Given the description of an element on the screen output the (x, y) to click on. 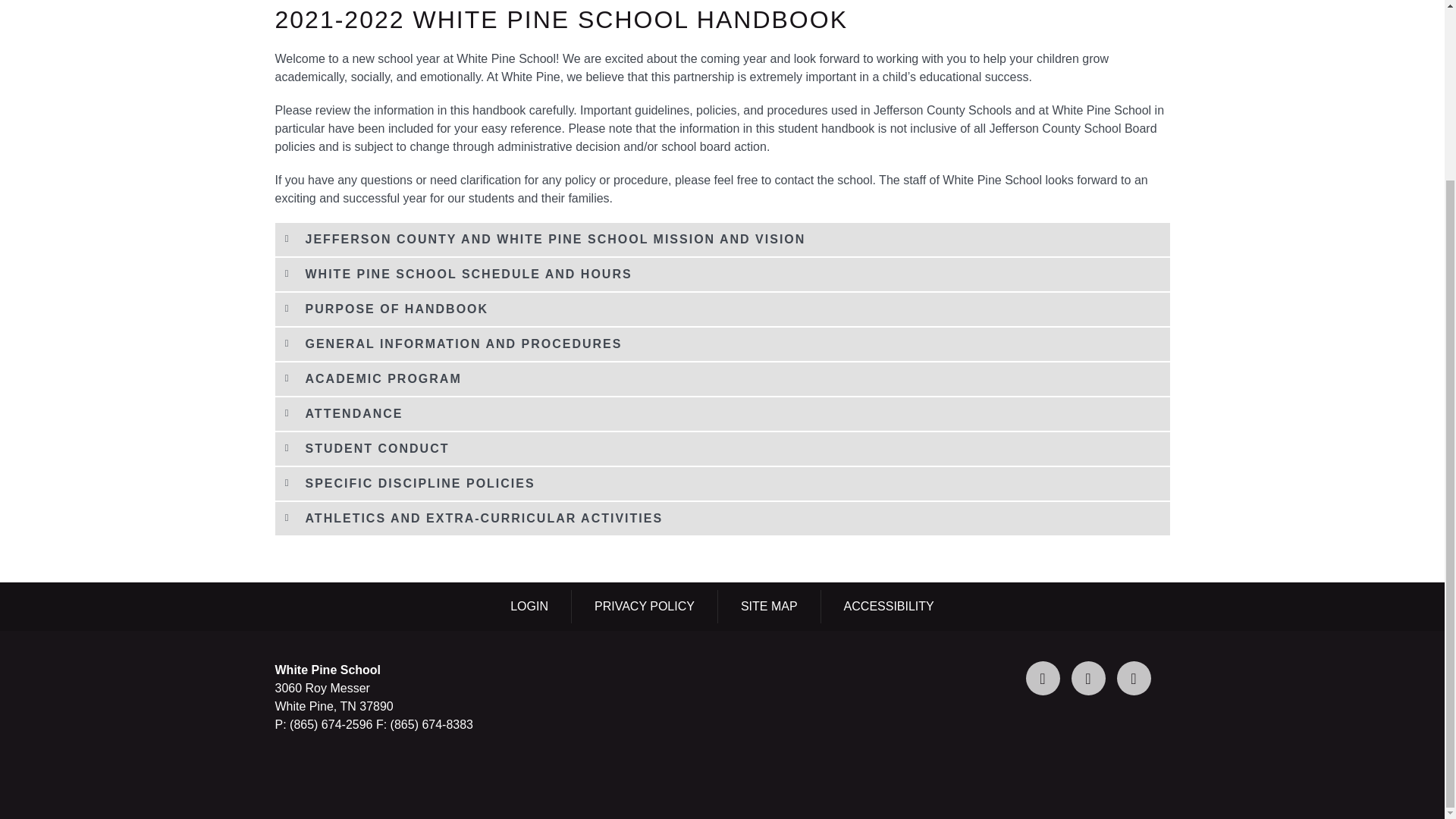
Powered by Finalsite opens in a new window (722, 785)
